Given the description of an element on the screen output the (x, y) to click on. 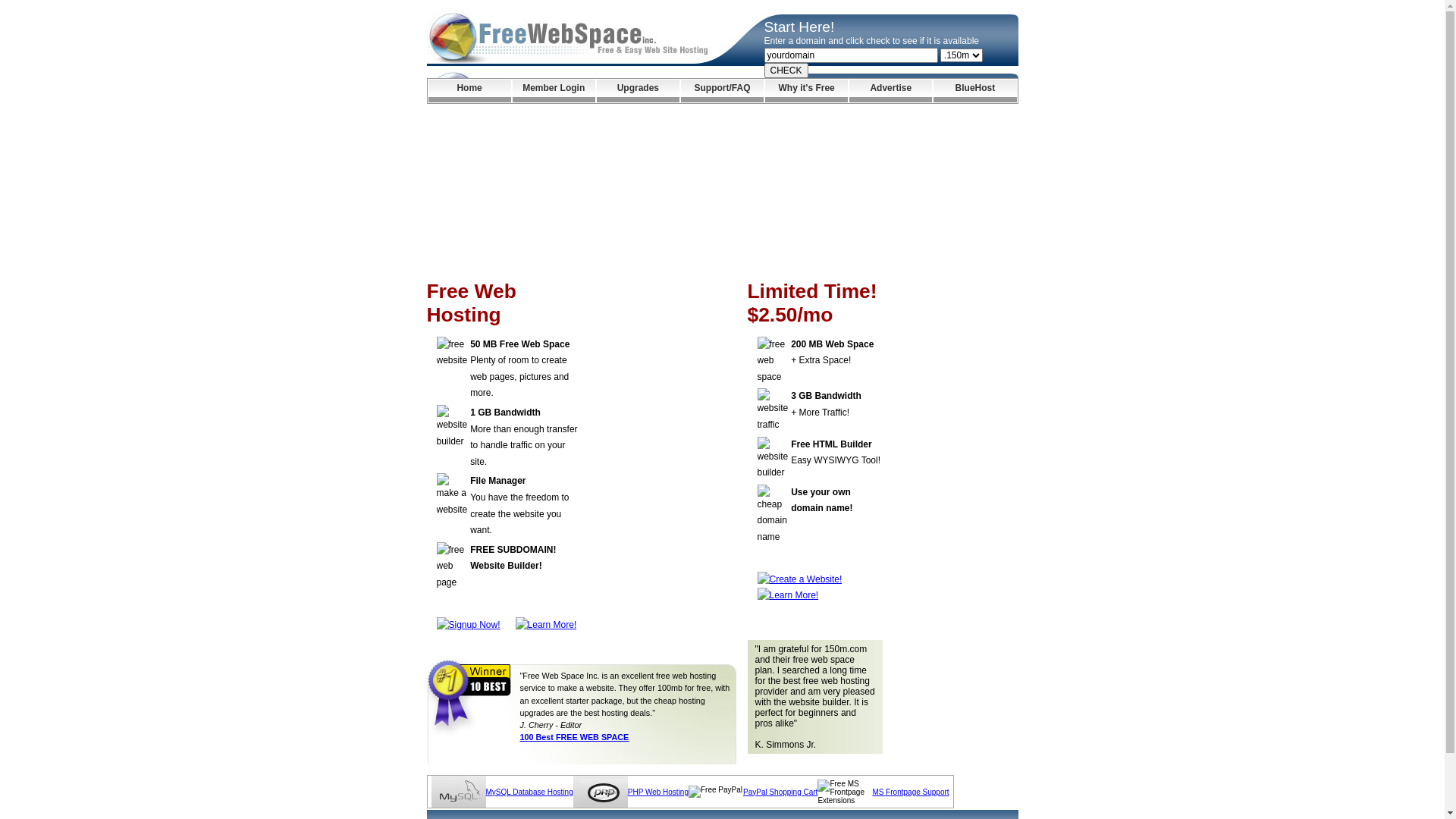
PHP Web Hosting Element type: text (657, 791)
Why it's Free Element type: text (806, 90)
MS Frontpage Support Element type: text (910, 791)
MySQL Database Hosting Element type: text (528, 791)
PayPal Shopping Cart Element type: text (780, 791)
BlueHost Element type: text (974, 90)
CHECK Element type: text (786, 70)
Member Login Element type: text (553, 90)
Support/FAQ Element type: text (721, 90)
Advertise Element type: text (890, 90)
100 Best FREE WEB SPACE Element type: text (574, 736)
Home Element type: text (468, 90)
Upgrades Element type: text (637, 90)
